Given the description of an element on the screen output the (x, y) to click on. 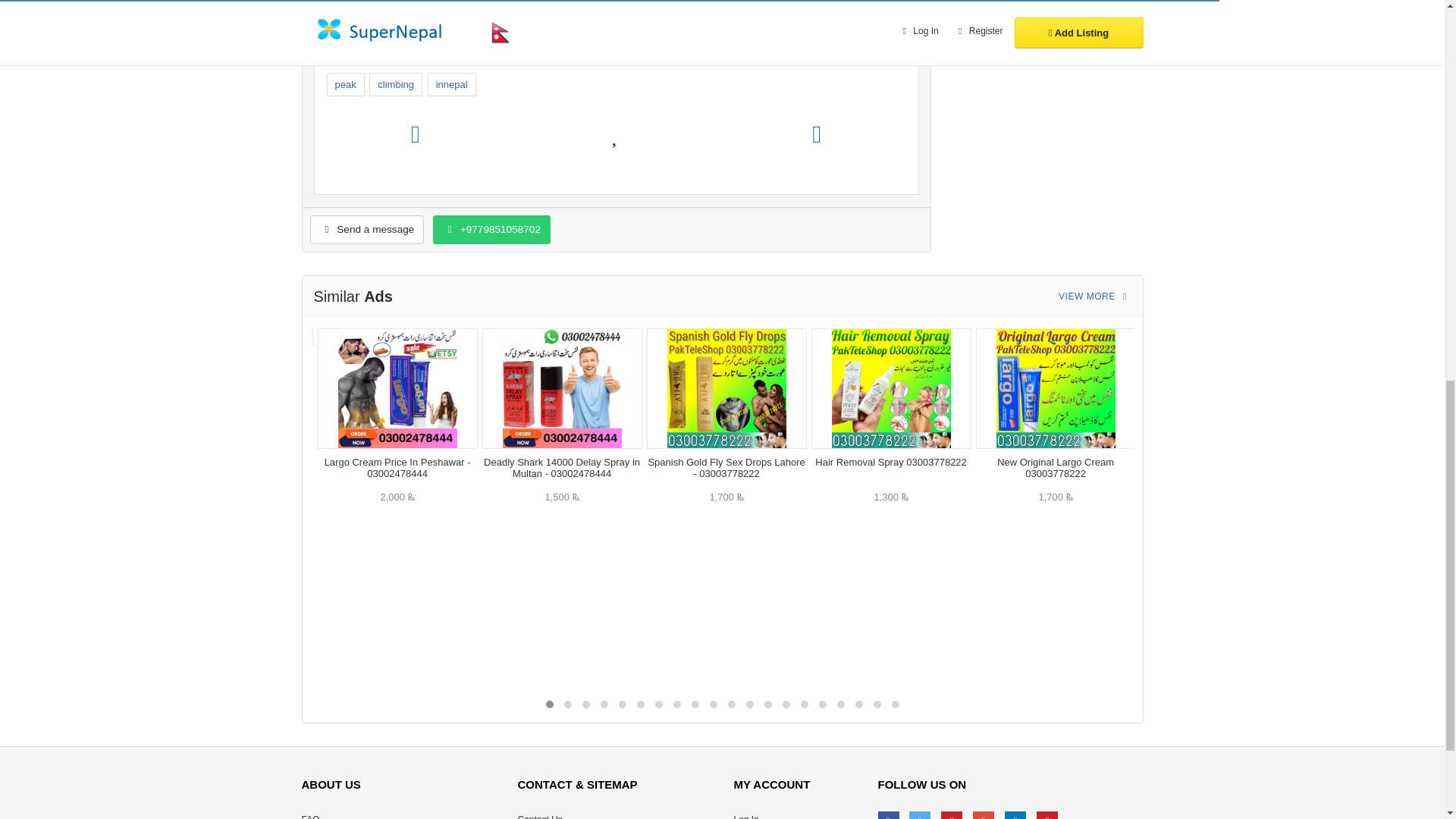
innepal (452, 84)
VIEW MORE (1094, 296)
climbing (395, 84)
Send a message (365, 229)
peak (345, 84)
